Given the description of an element on the screen output the (x, y) to click on. 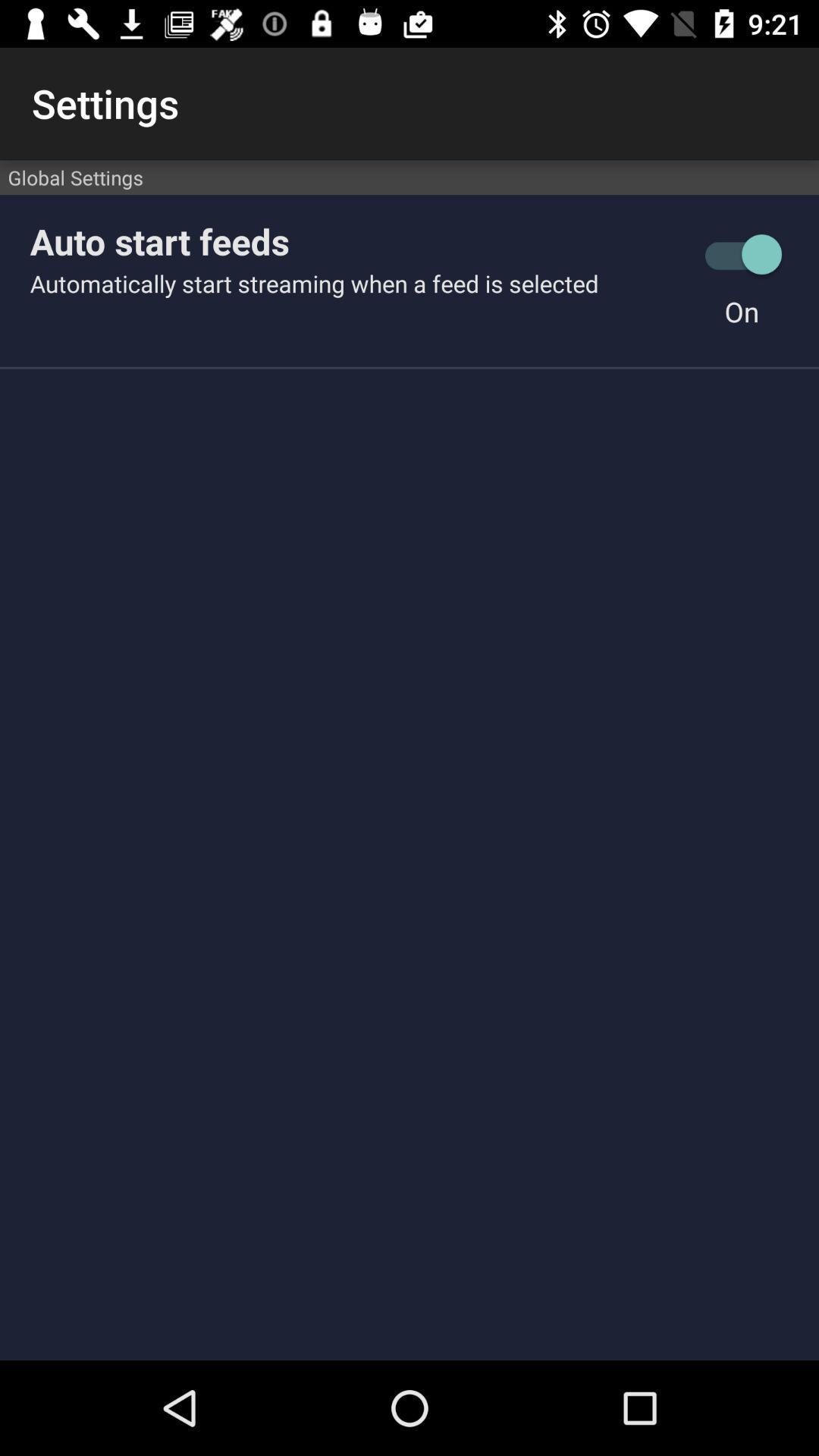
select global settings item (409, 177)
